Given the description of an element on the screen output the (x, y) to click on. 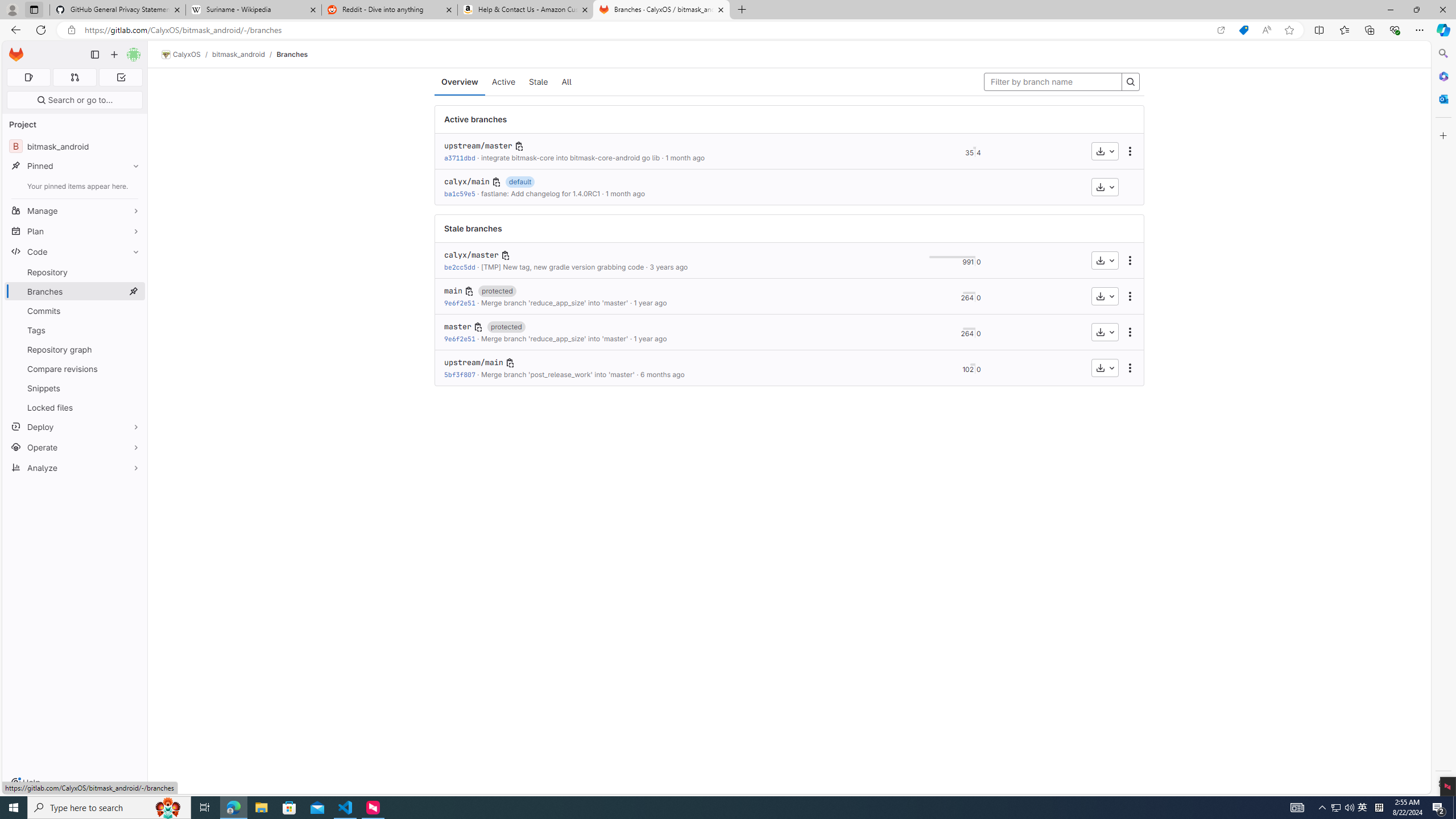
Split screen (1318, 29)
GitHub General Privacy Statement - GitHub Docs (117, 9)
9e6f2e51 (460, 338)
Plan (74, 230)
Branches (292, 53)
Overview (458, 81)
Create new... (113, 54)
Microsoft 365 (1442, 76)
bitmask_android (238, 53)
Restore (1416, 9)
Pin Tags (132, 329)
fastlane: Add changelog for 1.4.0RC1 (539, 193)
Operate (74, 447)
Minimize (1390, 9)
View site information (70, 29)
